Given the description of an element on the screen output the (x, y) to click on. 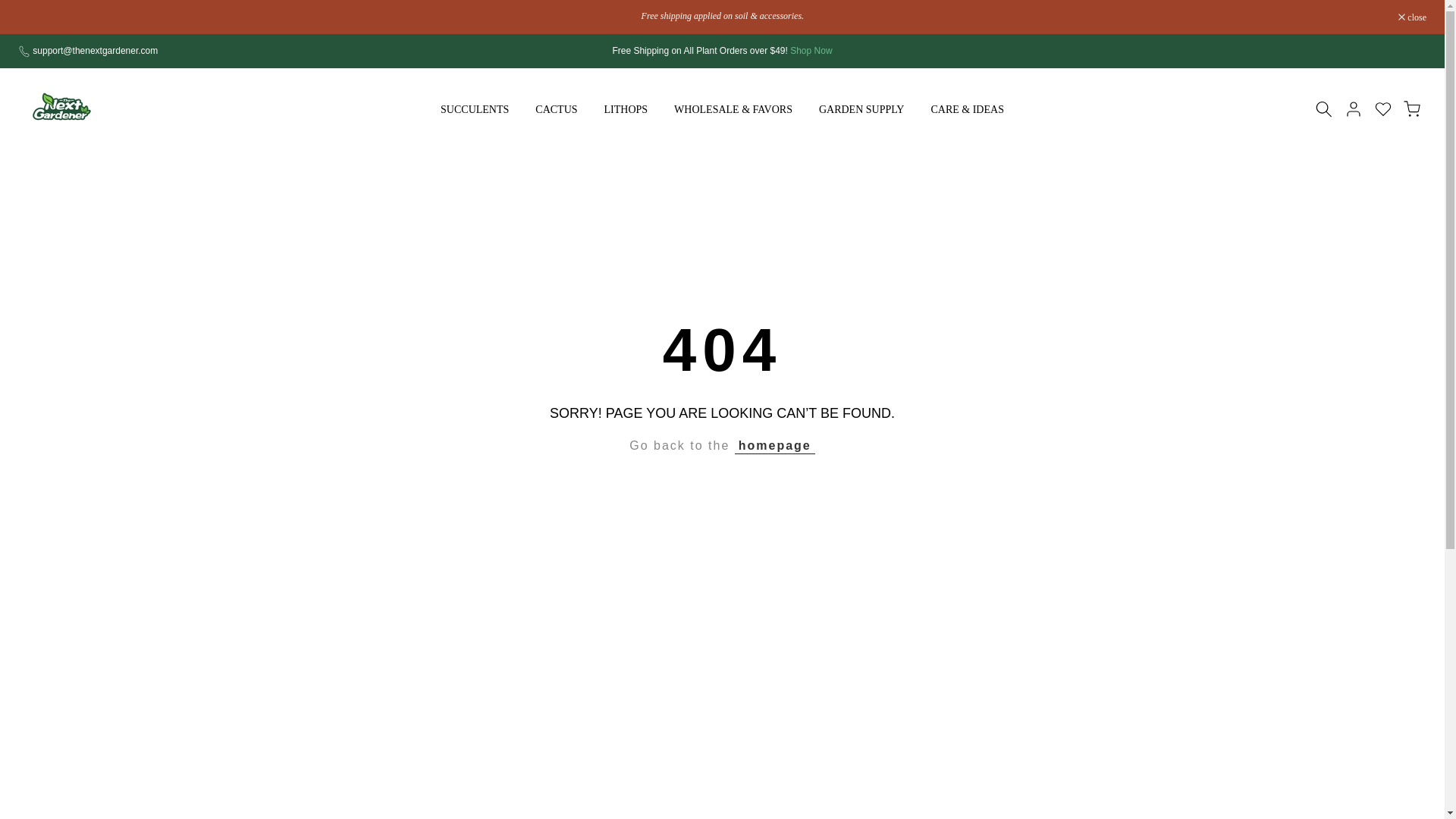
LITHOPS (626, 109)
Skip to content (10, 7)
Shop Now (810, 50)
homepage (775, 445)
GARDEN SUPPLY (861, 109)
close (1411, 16)
CACTUS (556, 109)
SUCCULENTS (475, 109)
succulent-cactus-for-sale (810, 50)
